Given the description of an element on the screen output the (x, y) to click on. 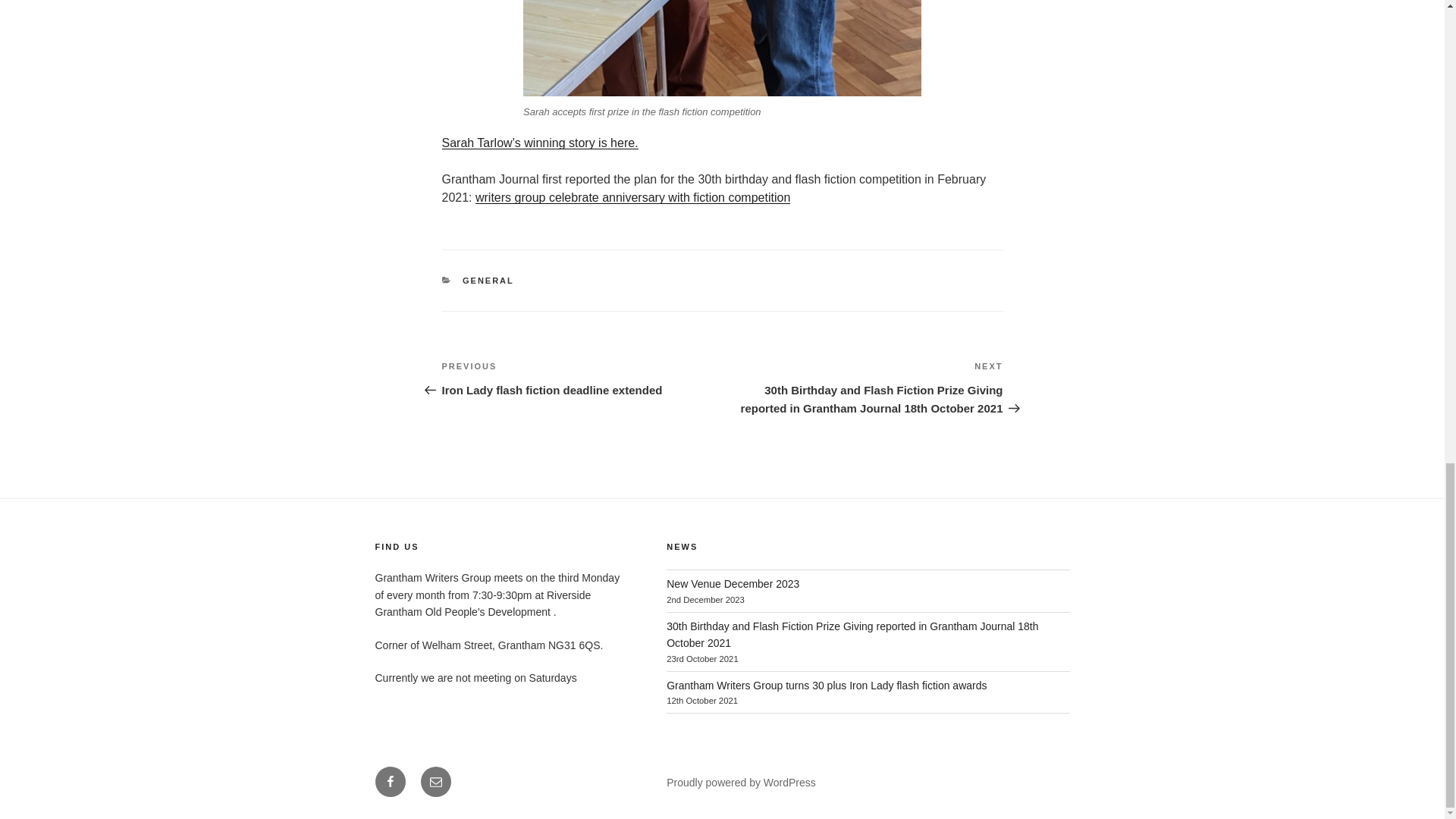
GENERAL (488, 280)
Proudly powered by WordPress (740, 782)
writers group celebrate anniversary with fiction competition (633, 196)
Email (435, 781)
Facebook (389, 781)
New Venue December 2023 (732, 583)
